Given the description of an element on the screen output the (x, y) to click on. 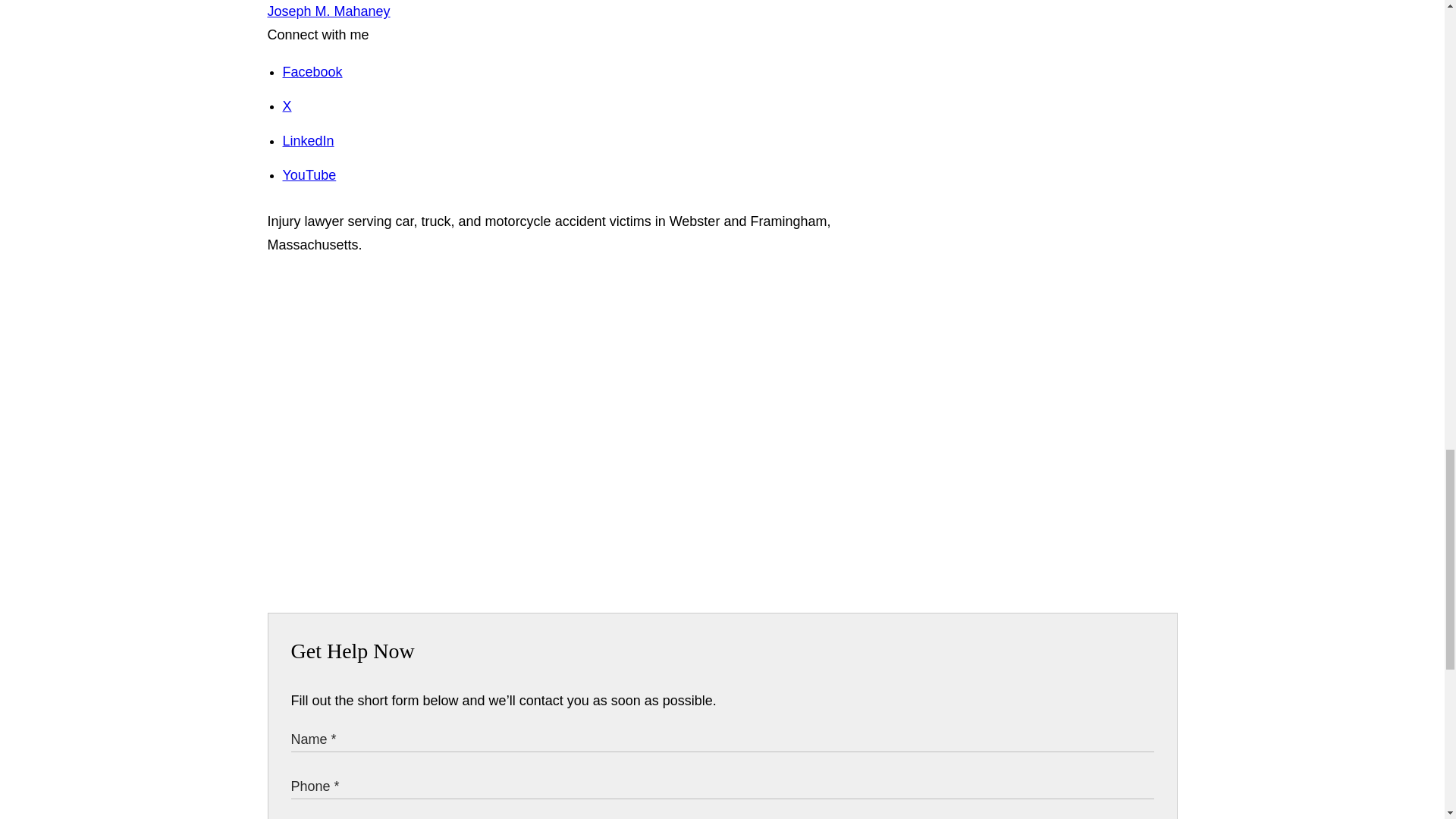
Connect with me on LinkedIn (307, 140)
Find me on Facebook (312, 71)
Watch me on YouTube (309, 174)
